Given the description of an element on the screen output the (x, y) to click on. 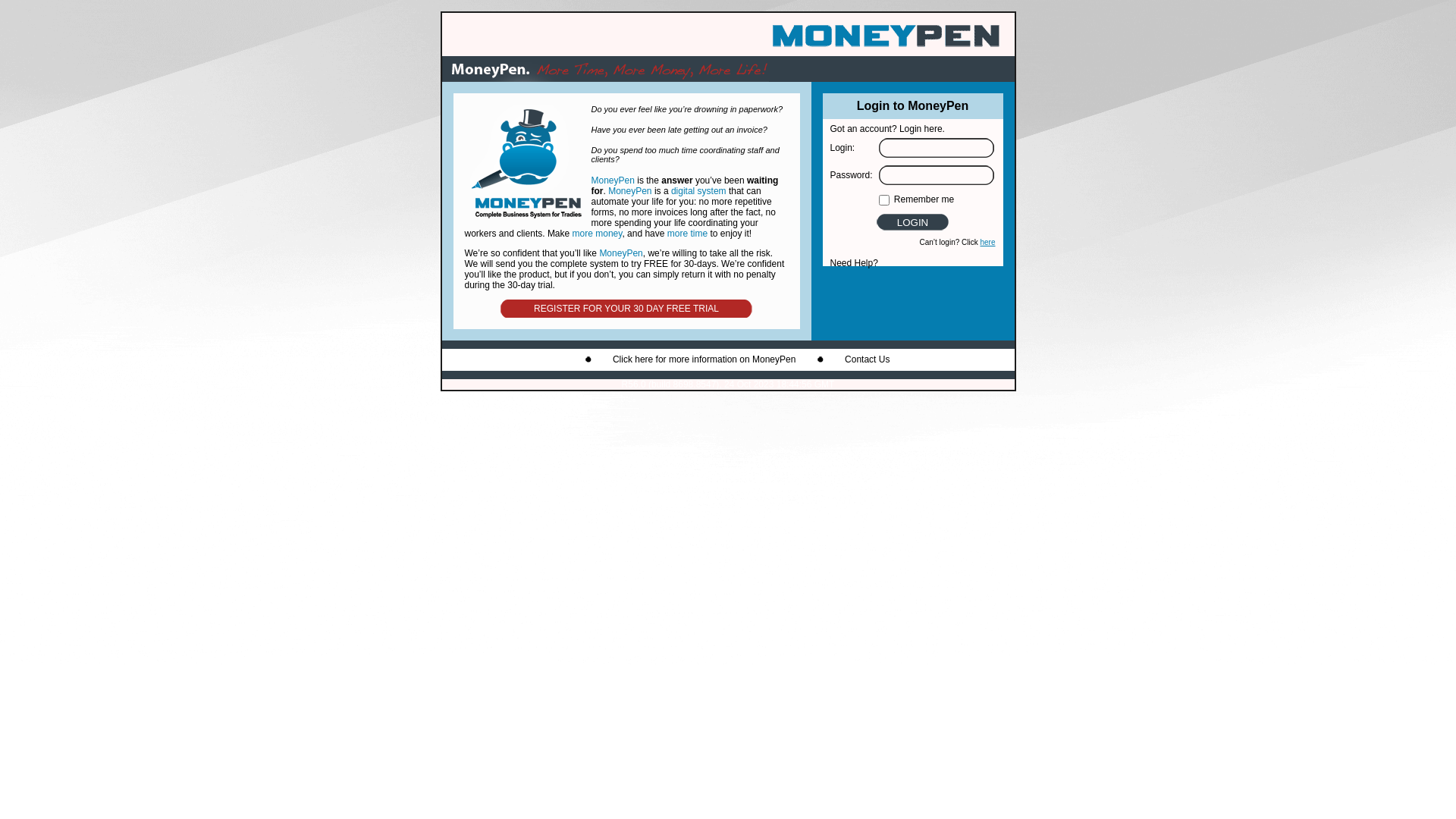
Login Element type: text (912, 221)
here Element type: text (986, 242)
Click here for more information on MoneyPen Element type: text (703, 359)
REGISTER FOR YOUR 30 DAY FREE TRIAL Element type: text (626, 308)
Contact Us Element type: text (866, 359)
